Given the description of an element on the screen output the (x, y) to click on. 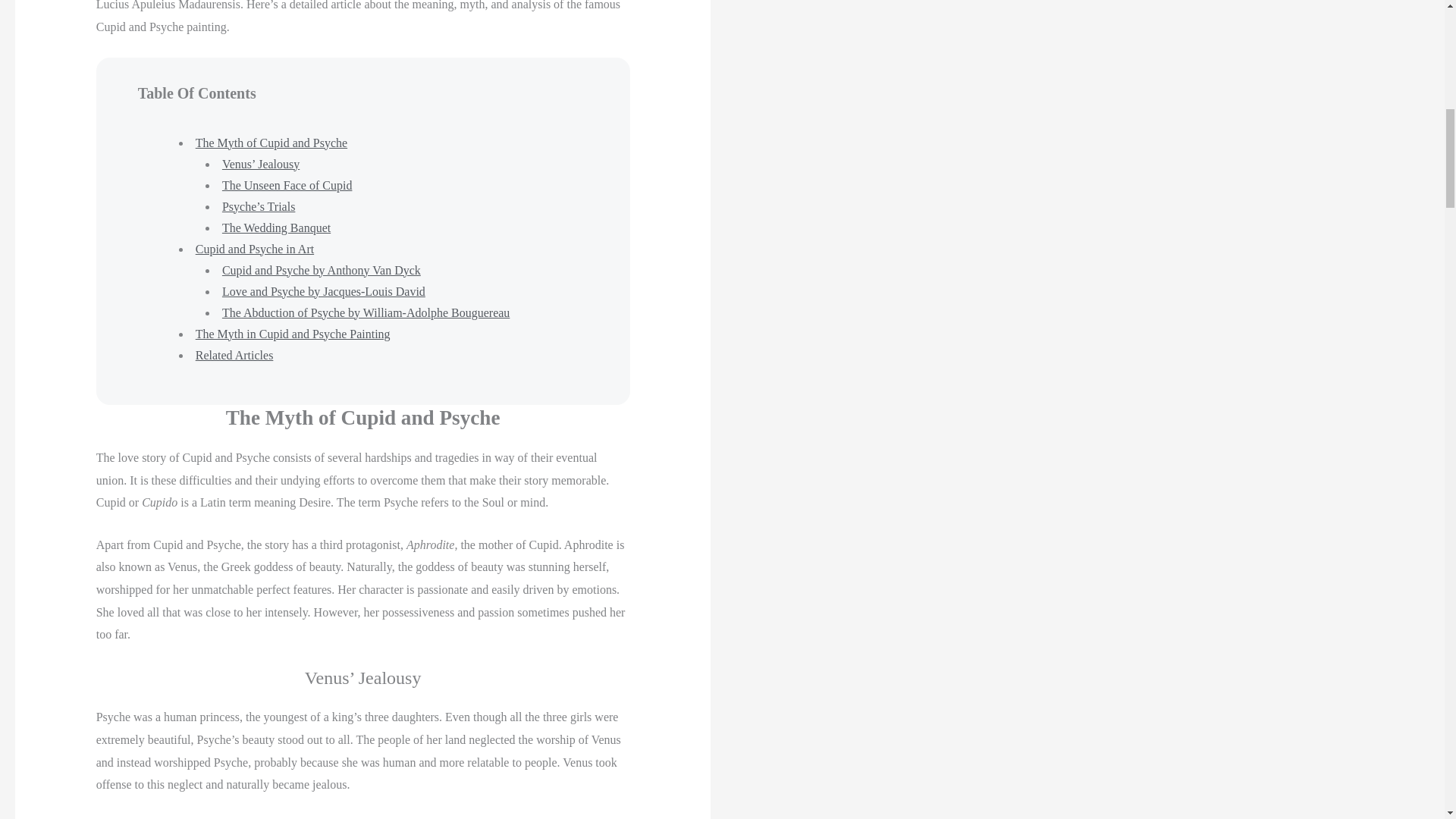
The Myth in Cupid and Psyche Painting (292, 333)
Related Articles (234, 354)
The Abduction of Psyche by William-Adolphe Bouguereau (365, 312)
Love and Psyche by Jacques-Louis David (323, 291)
The Wedding Banquet (276, 227)
The Unseen Face of Cupid (287, 185)
The Myth of Cupid and Psyche (271, 142)
Cupid and Psyche by Anthony Van Dyck (321, 269)
Cupid and Psyche in Art (254, 248)
